Given the description of an element on the screen output the (x, y) to click on. 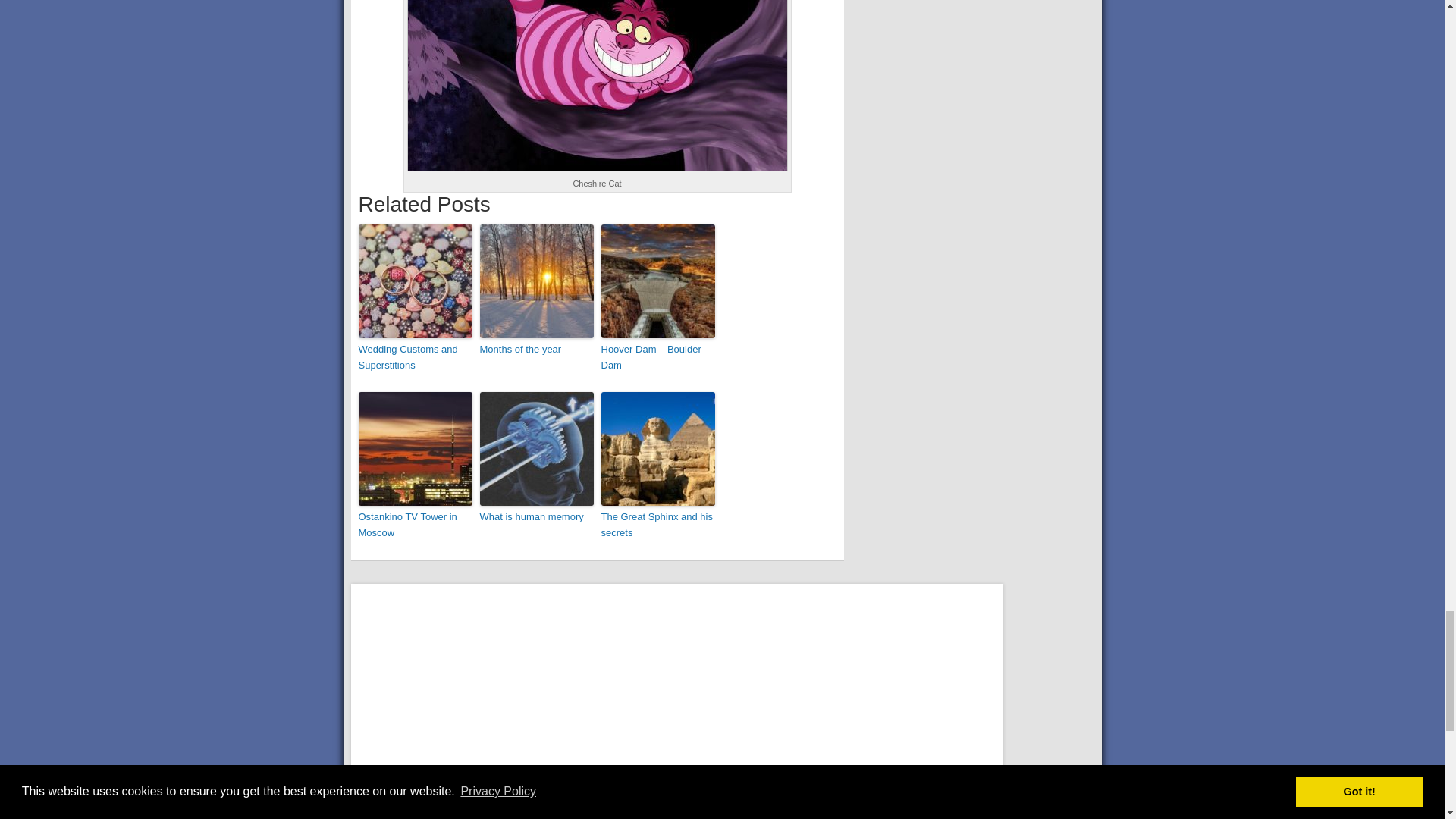
Ostankino TV Tower in Moscow (414, 525)
What is human memory (535, 517)
Wedding Customs and Superstitions (414, 357)
Months of the year (535, 349)
The Great Sphinx and his secrets (656, 525)
